Given the description of an element on the screen output the (x, y) to click on. 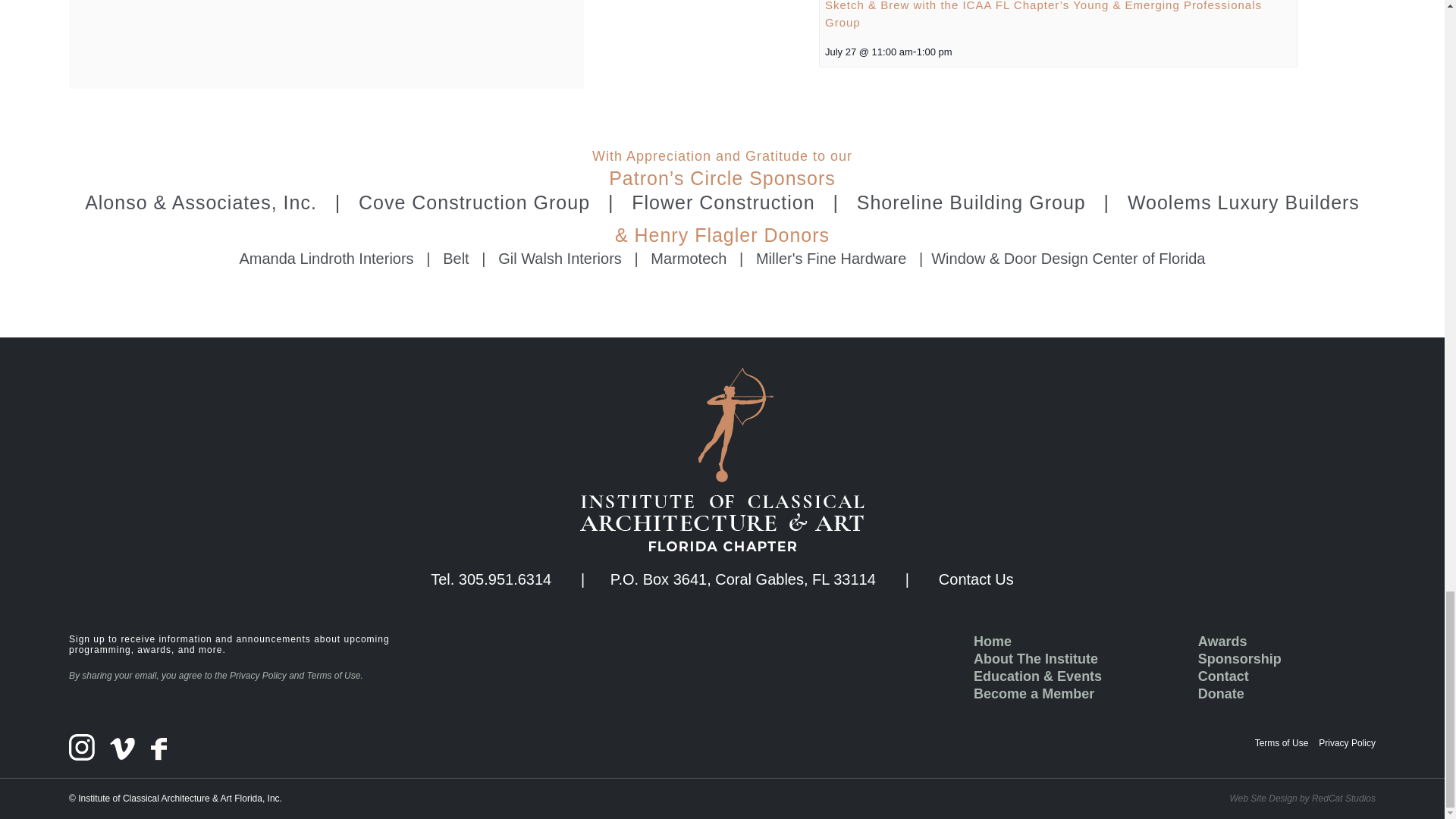
insta-logo (81, 746)
vimeo-icon (122, 748)
ICAA Florida Chapter (721, 459)
